Given the description of an element on the screen output the (x, y) to click on. 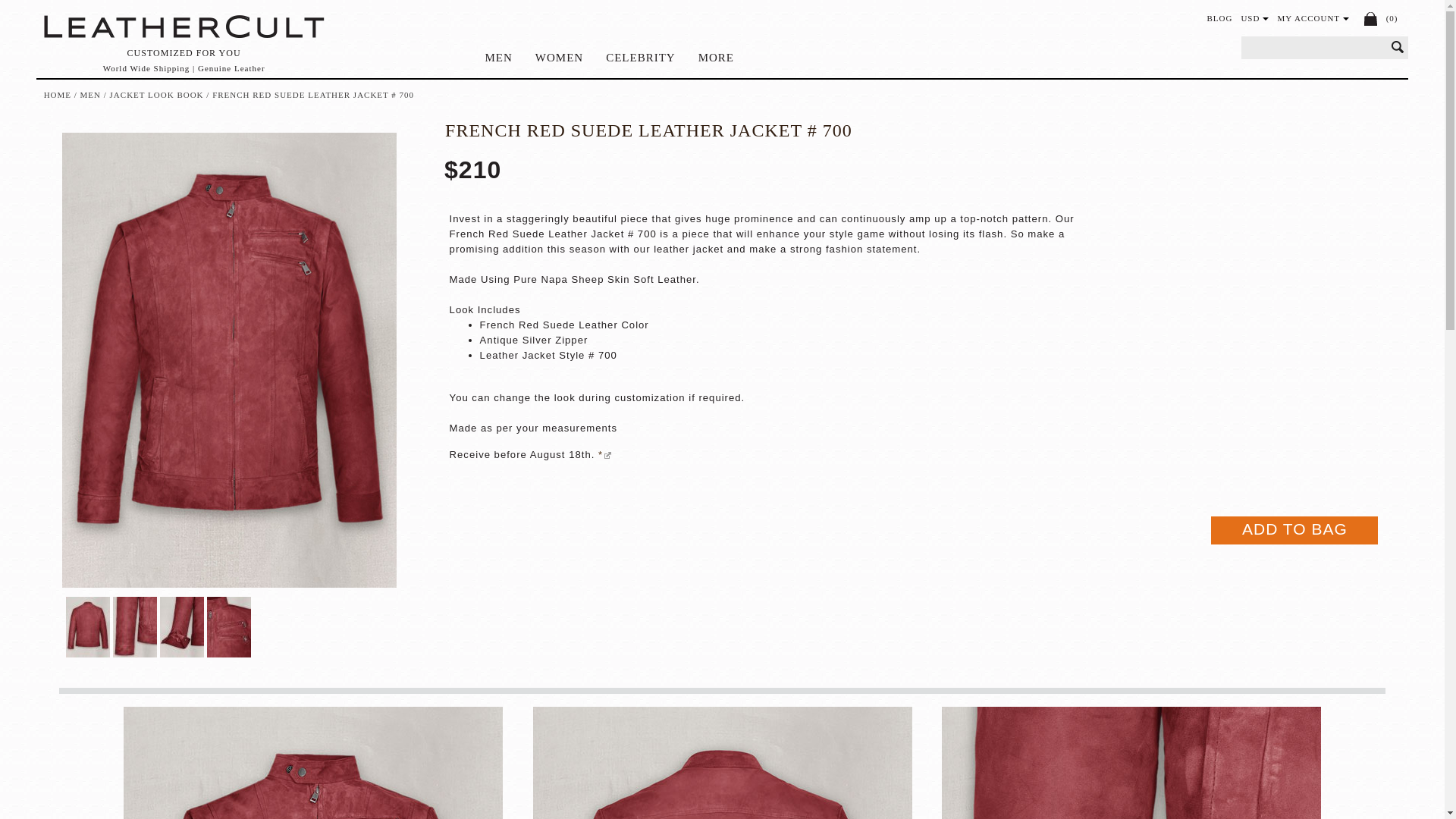
LeatherCult (183, 26)
Blog (1219, 17)
Shopping Cart (1370, 18)
